Given the description of an element on the screen output the (x, y) to click on. 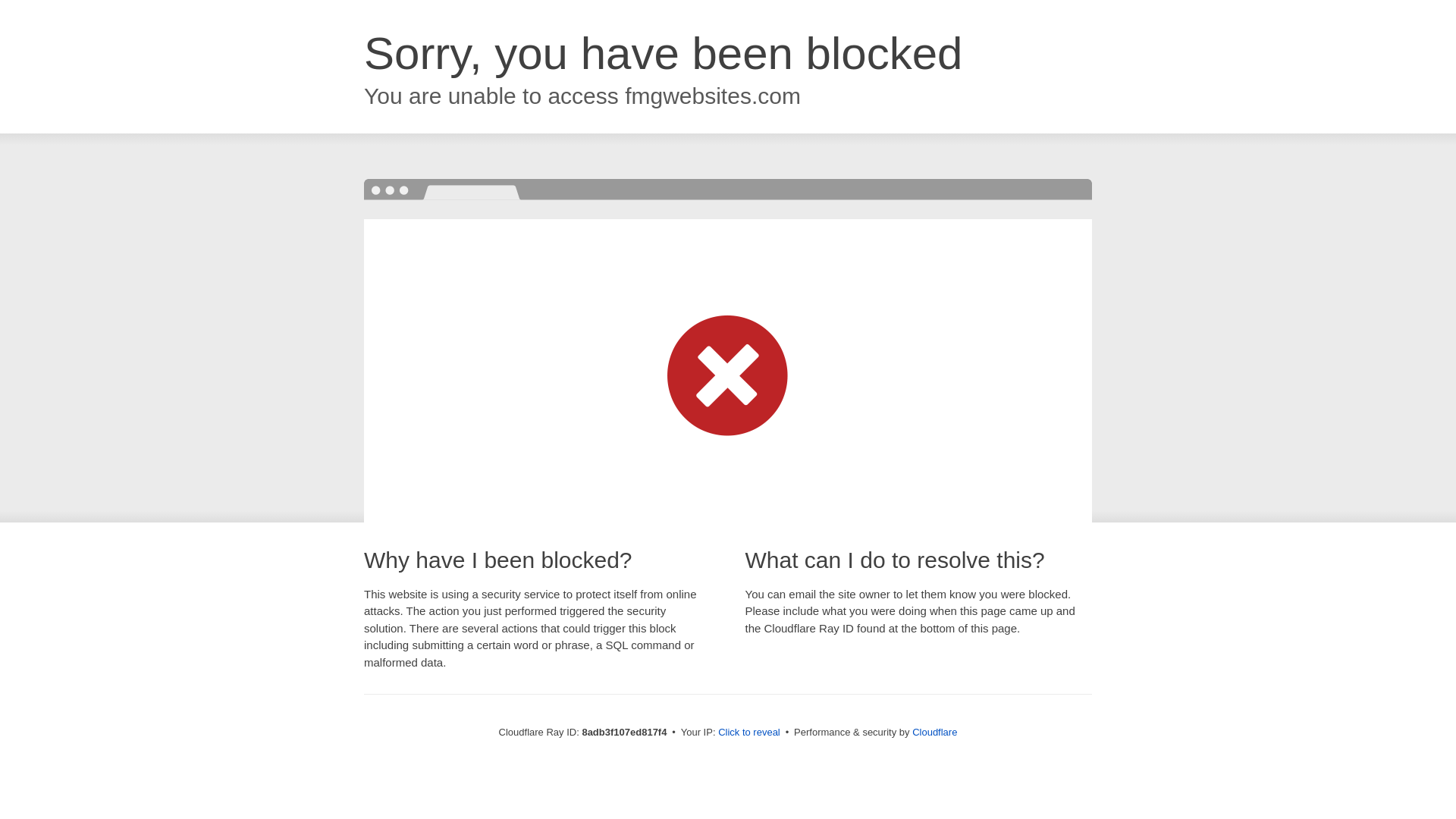
Click to reveal (748, 732)
Cloudflare (934, 731)
